Given the description of an element on the screen output the (x, y) to click on. 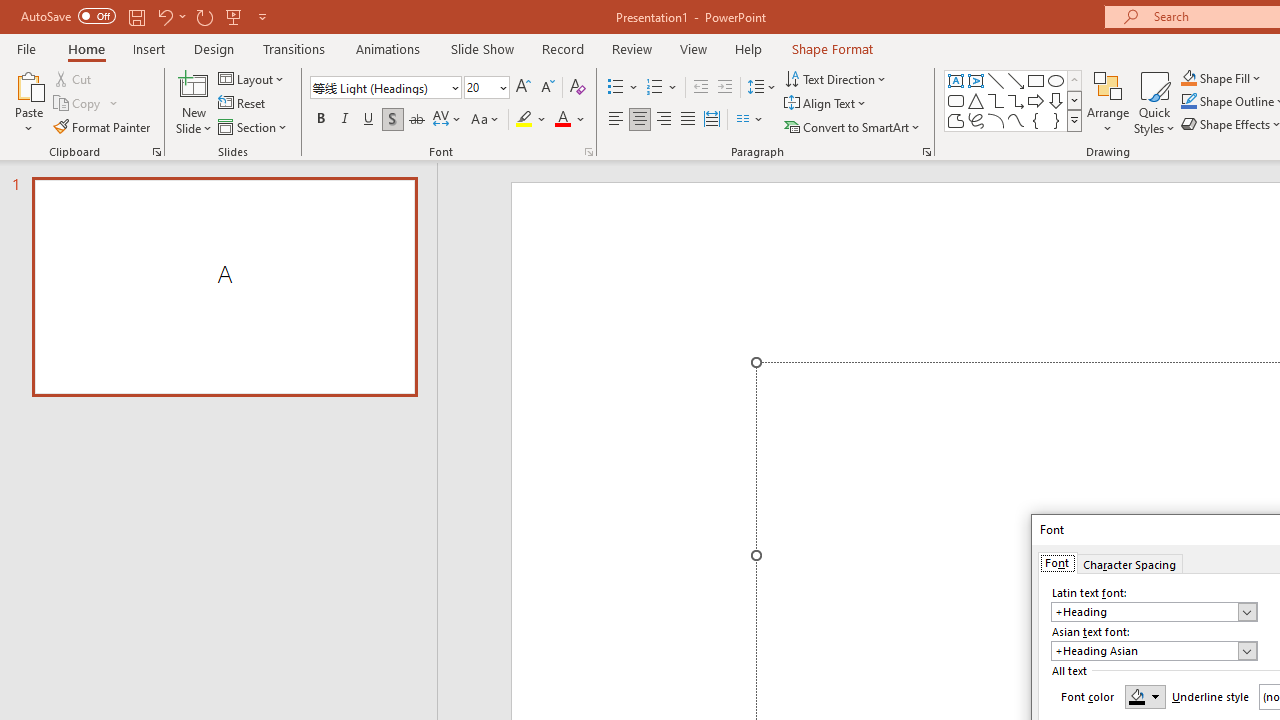
Shape Format (832, 48)
Open (1246, 651)
Section (254, 126)
Connector: Elbow (995, 100)
Font Size (480, 87)
Format Painter (103, 126)
Paste (28, 102)
Convert to SmartArt (853, 126)
Change Case (486, 119)
Underline (369, 119)
Font Size (486, 87)
